Given the description of an element on the screen output the (x, y) to click on. 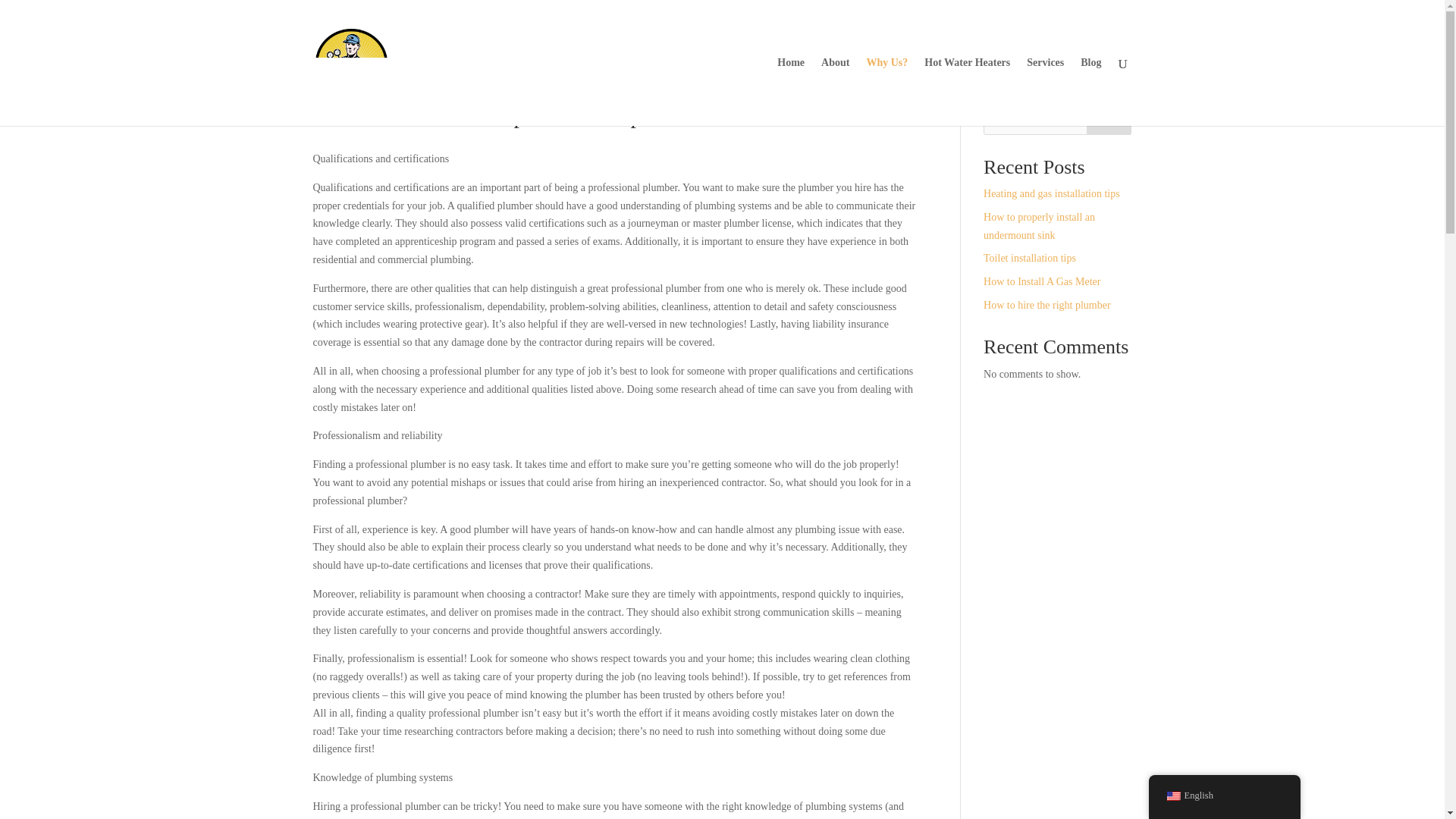
Search (1109, 119)
How to properly install an undermount sink (1039, 225)
How to hire the right plumber (1047, 305)
Toilet installation tips (1029, 257)
Hot Water Heaters (967, 91)
Heating and gas installation tips (1051, 193)
English (1172, 795)
English (1224, 796)
How to Install A Gas Meter (1042, 281)
